Given the description of an element on the screen output the (x, y) to click on. 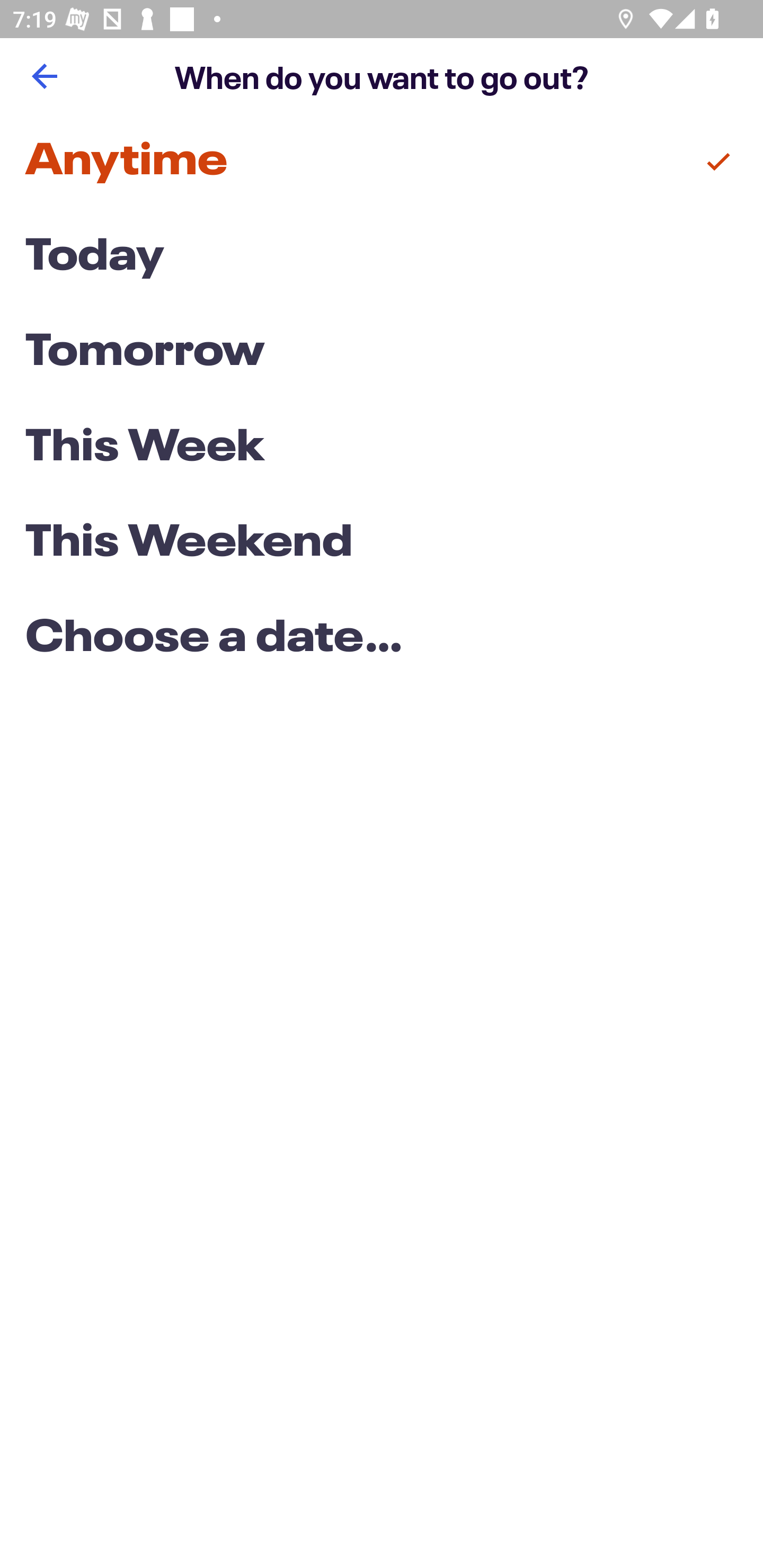
Back button (44, 75)
Anytime (381, 161)
Today (381, 257)
Tomorrow (381, 352)
This Week (381, 447)
This Weekend (381, 542)
Choose a date… (381, 638)
